Given the description of an element on the screen output the (x, y) to click on. 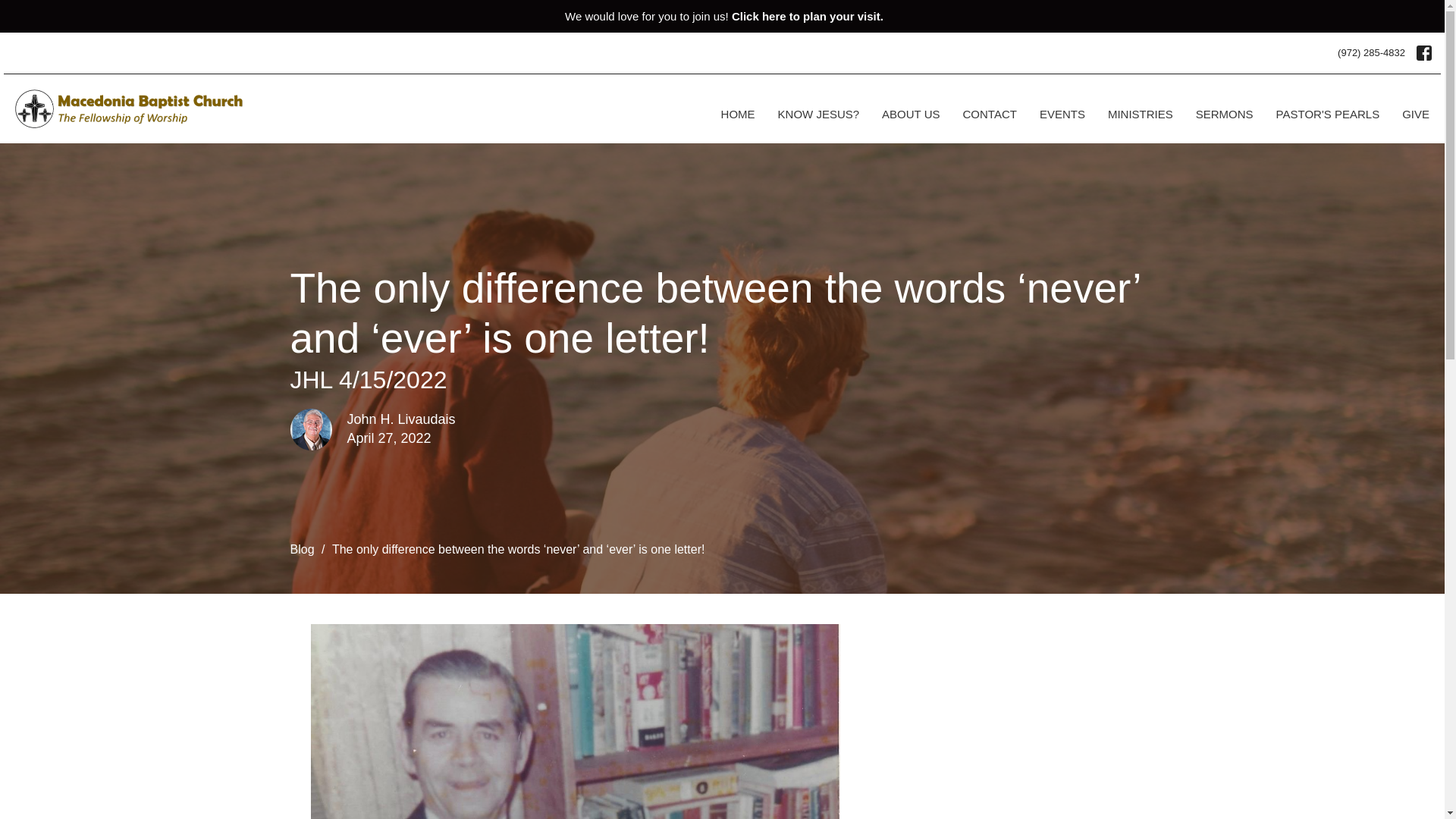
MINISTRIES (1140, 113)
CONTACT (989, 113)
KNOW JESUS? (818, 113)
Blog (301, 549)
EVENTS (1061, 113)
GIVE (1415, 113)
SERMONS (1224, 113)
PASTOR'S PEARLS (1328, 113)
HOME (737, 113)
